Given the description of an element on the screen output the (x, y) to click on. 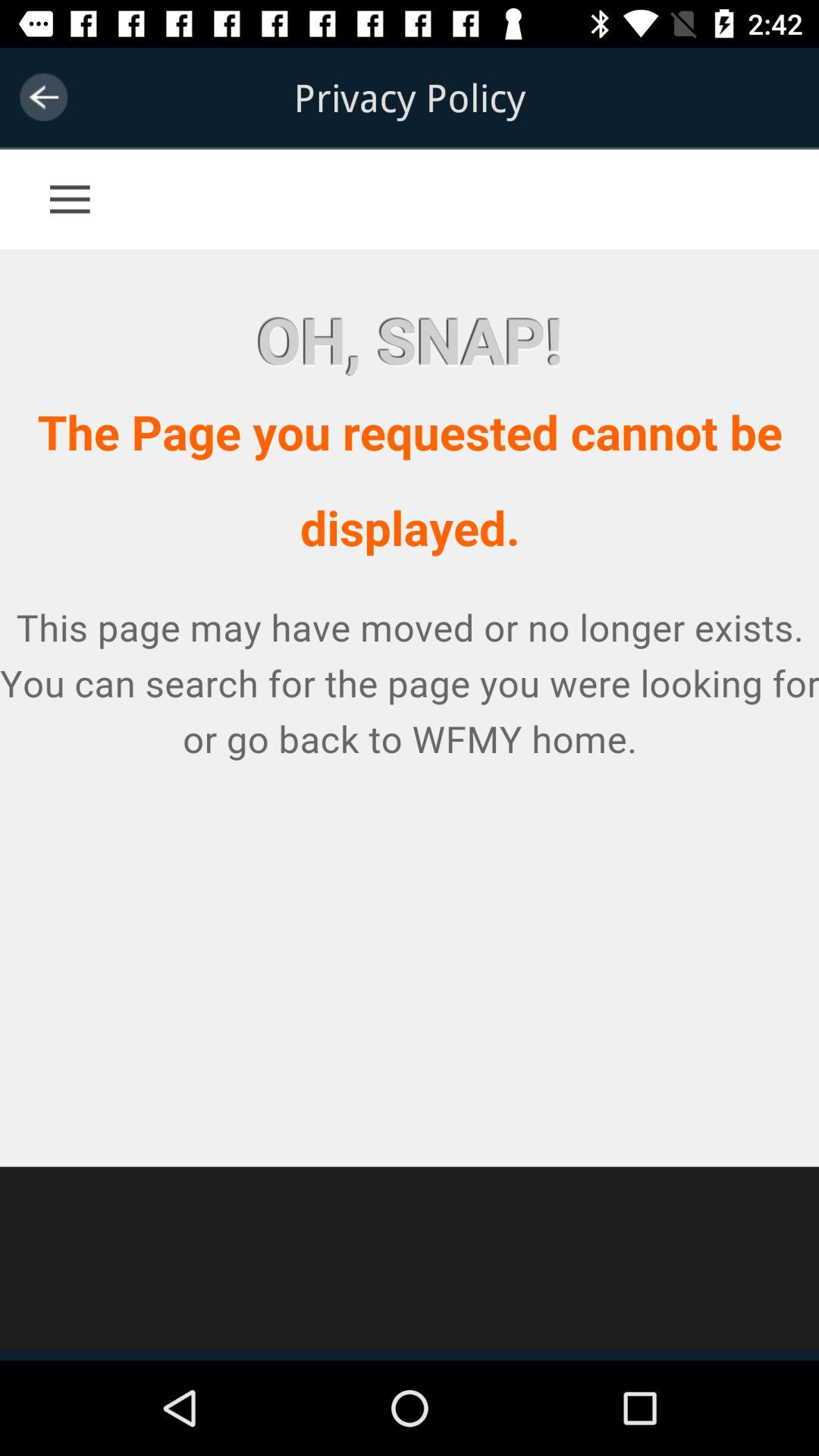
access menu (99, 182)
